Given the description of an element on the screen output the (x, y) to click on. 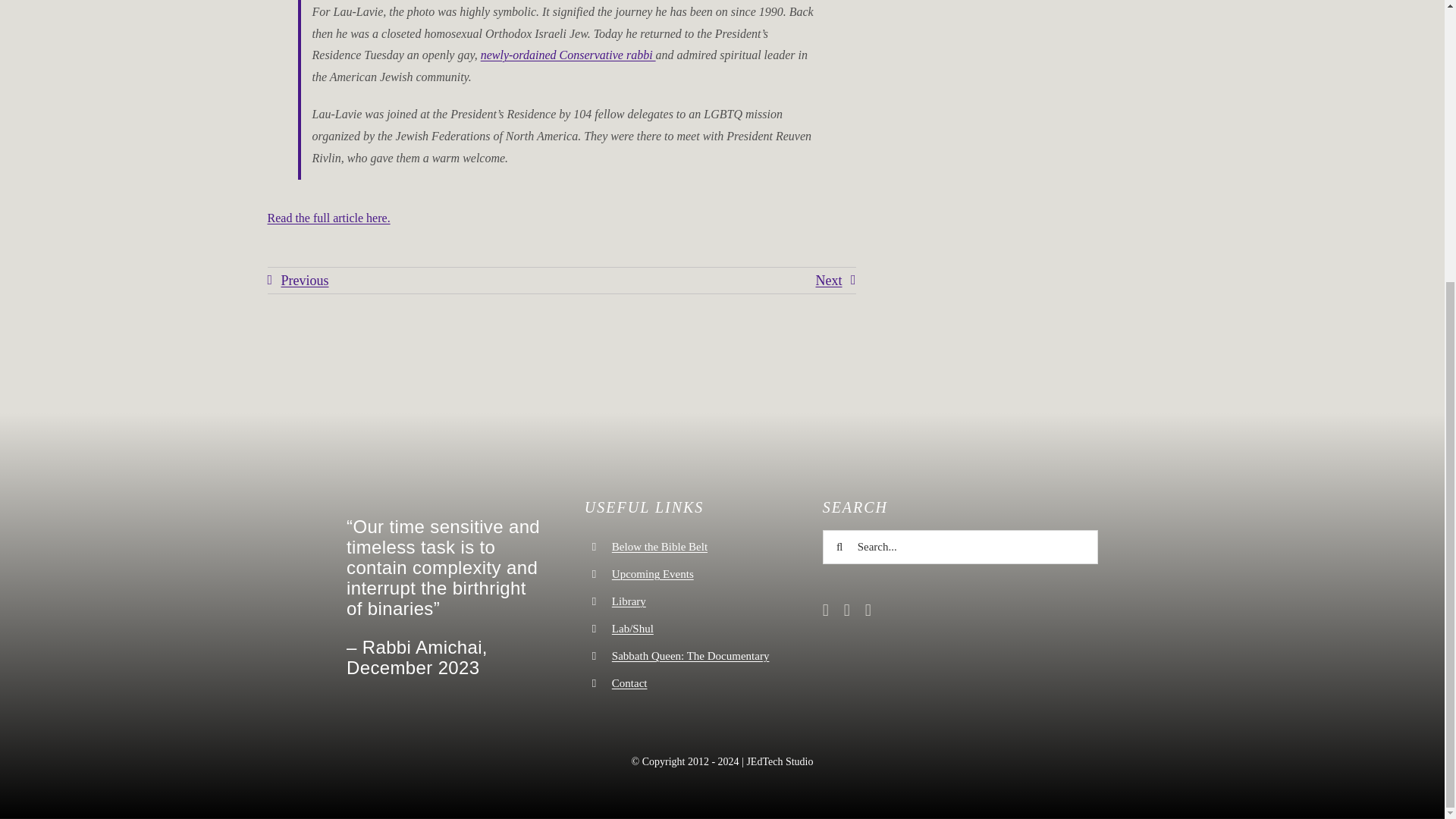
Upcoming Events (652, 573)
Contact (629, 683)
Below the Bible Belt (659, 546)
newly-ordained Conservative rabbi  (568, 54)
Previous (297, 280)
Library (628, 601)
Next (835, 280)
Sabbath Queen: The Documentary (690, 655)
Read the full article here. (328, 217)
